Given the description of an element on the screen output the (x, y) to click on. 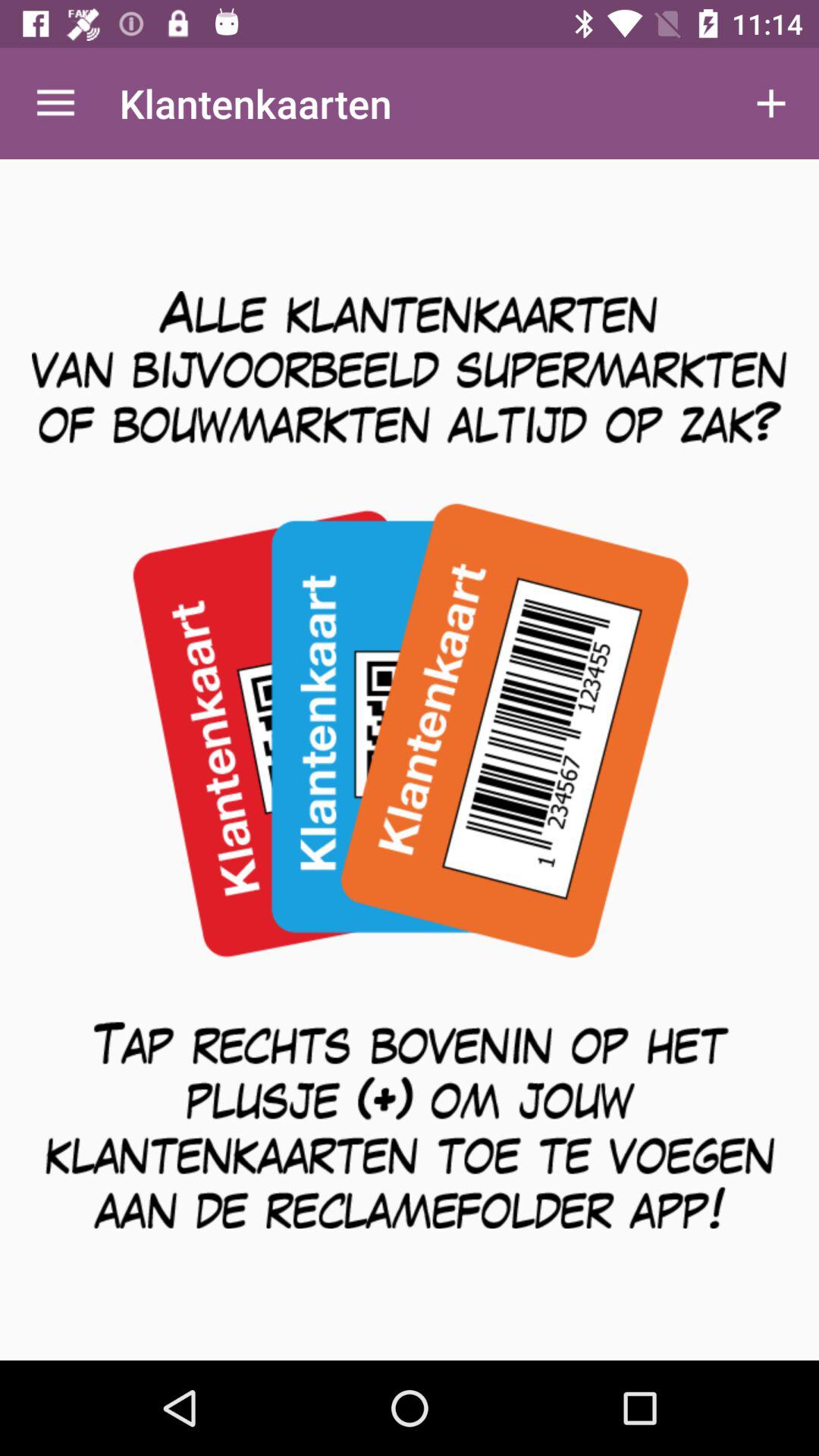
tap item at the top right corner (771, 103)
